Given the description of an element on the screen output the (x, y) to click on. 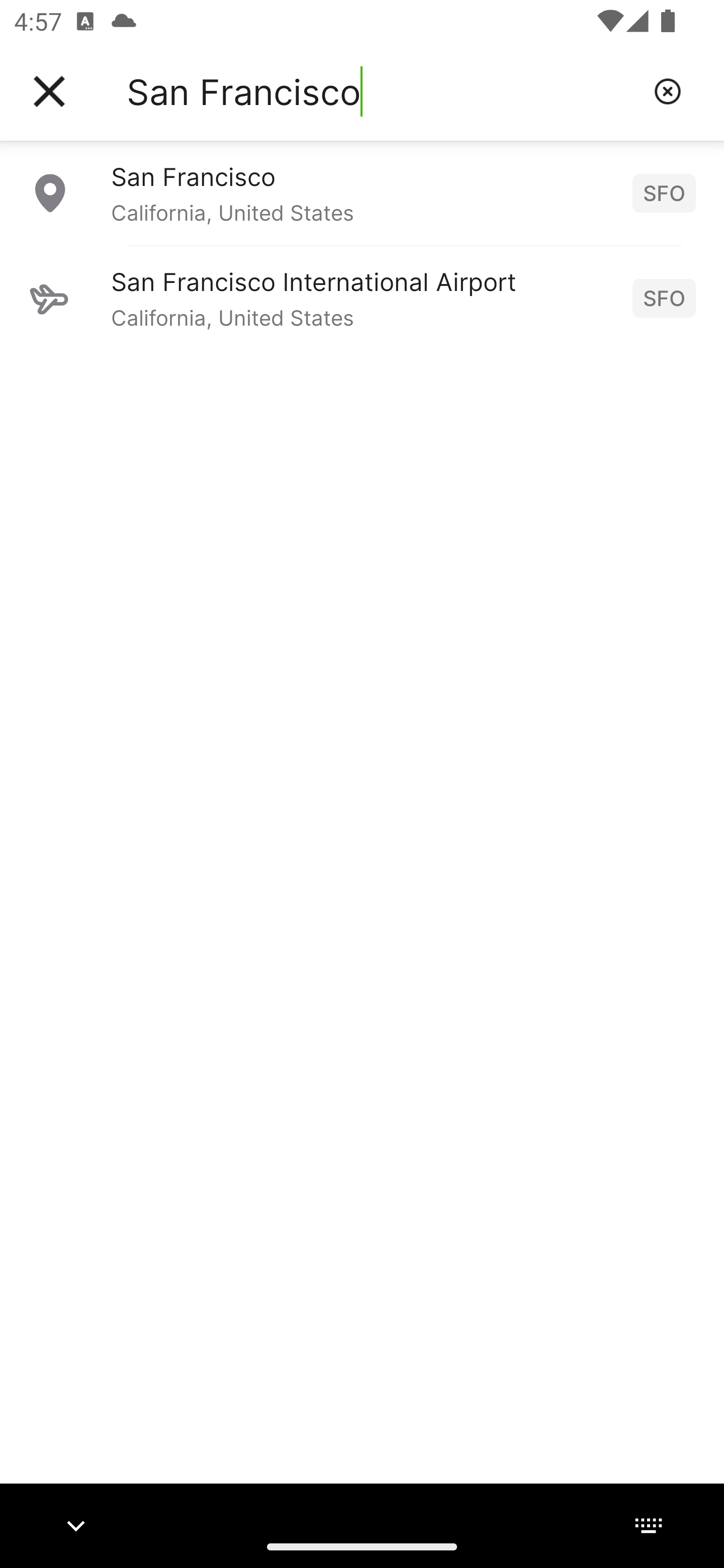
San Francisco (382, 91)
San Francisco California, United States SFO (362, 192)
